Given the description of an element on the screen output the (x, y) to click on. 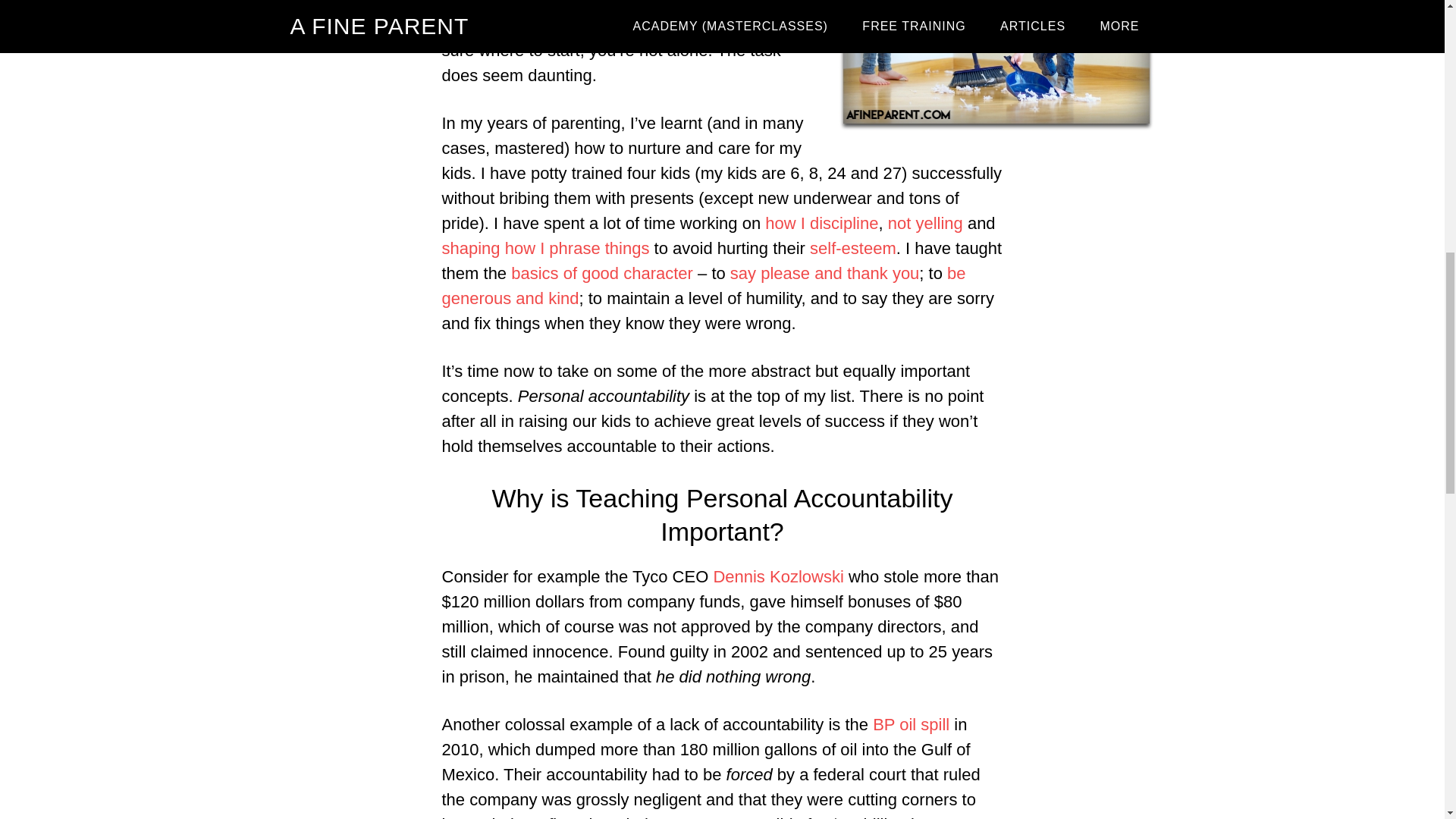
how I discipline (821, 222)
Dennis Kozlowski (778, 576)
not yelling (925, 222)
say please and thank you (825, 272)
basics of good character (602, 272)
BP oil spill (910, 723)
be generous and kind (703, 285)
shaping how I phrase things (545, 248)
self-esteem (852, 248)
